Given the description of an element on the screen output the (x, y) to click on. 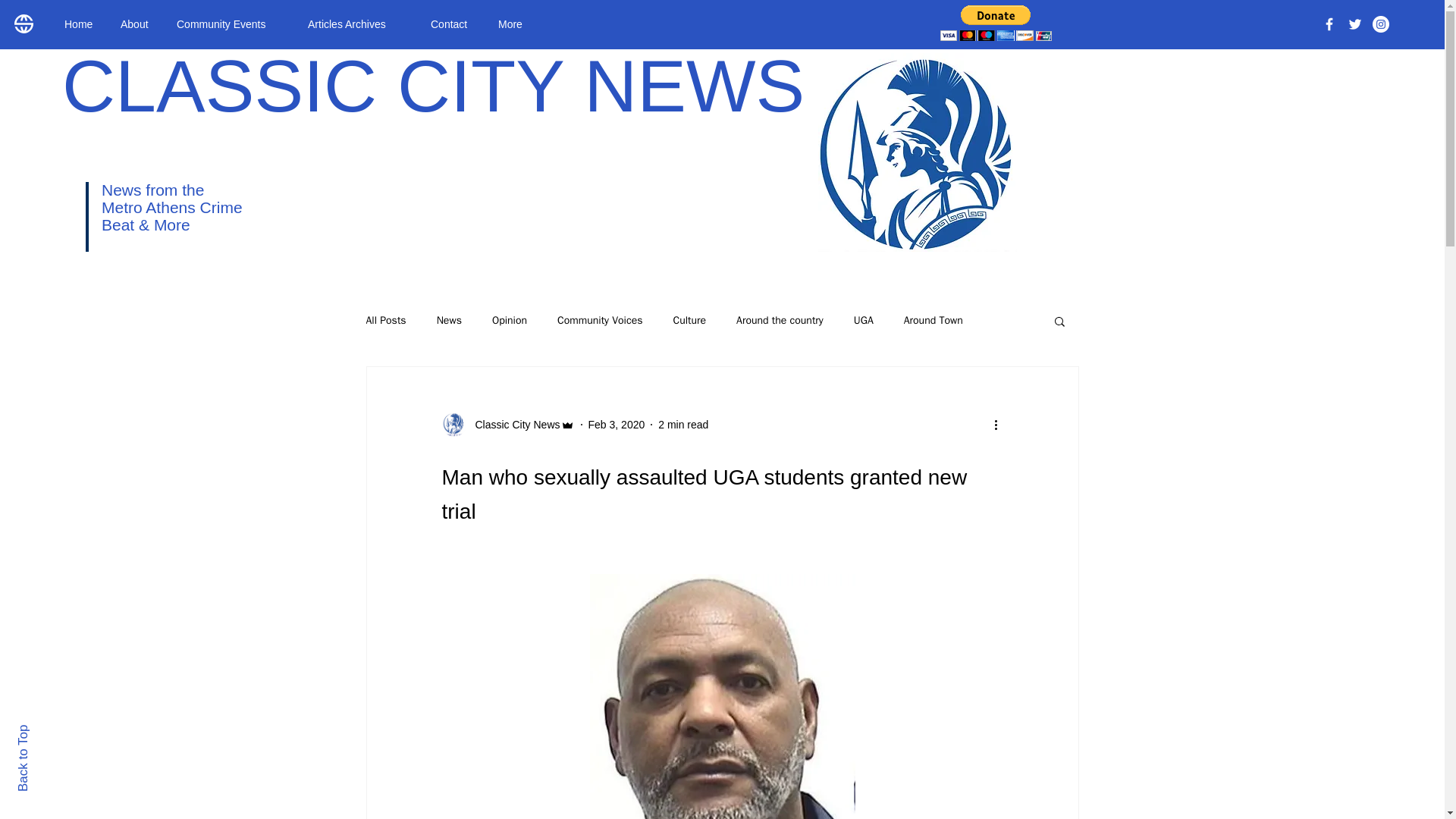
Culture (689, 320)
Around Town (933, 320)
Community Events (231, 24)
Classic City News (512, 424)
Opinion (509, 320)
News (448, 320)
Community Voices (599, 320)
Around the country (780, 320)
About (137, 24)
Classic City News (507, 424)
